Given the description of an element on the screen output the (x, y) to click on. 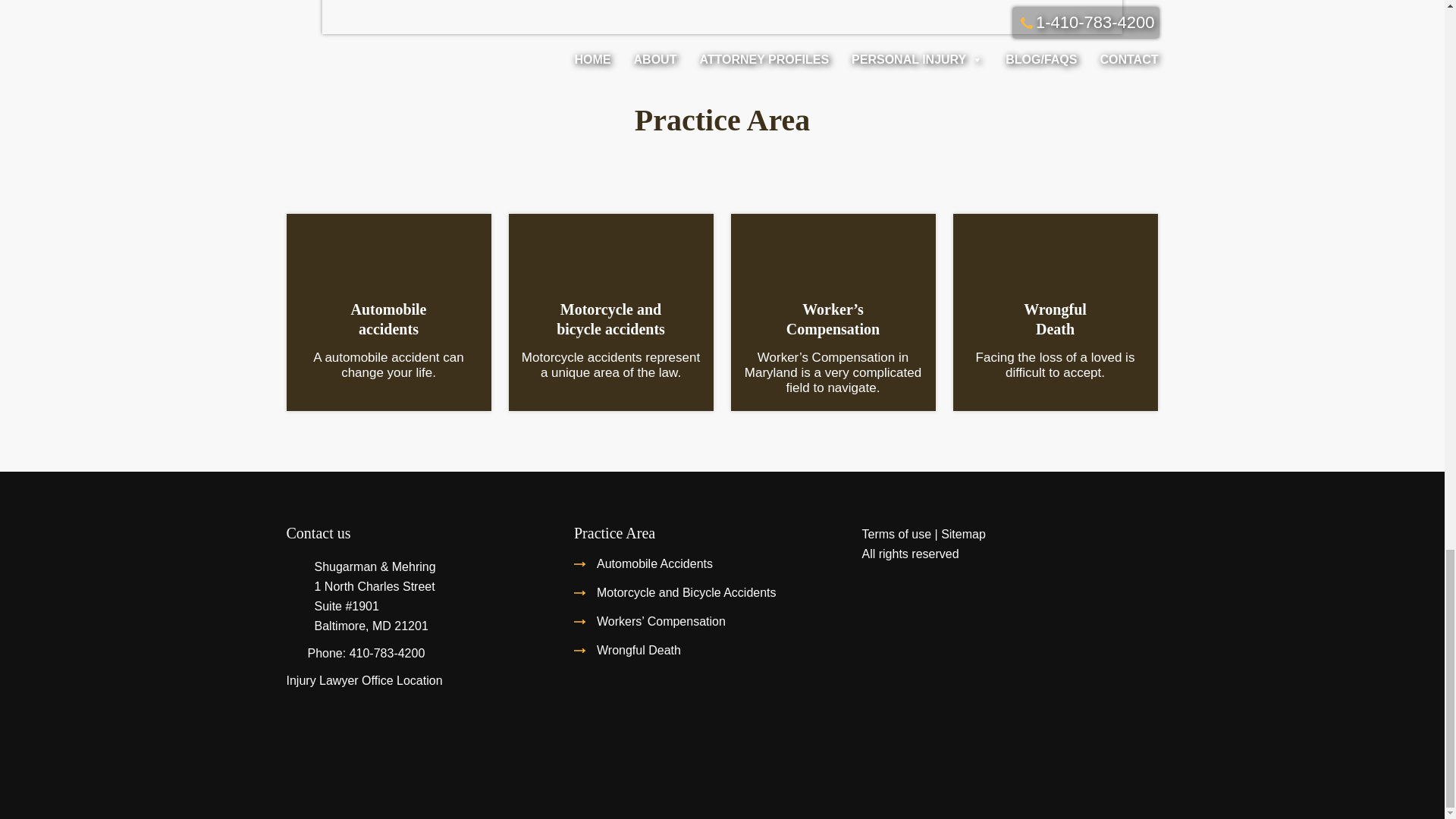
Sitemap (962, 533)
Injury Lawyer Office Location (388, 319)
410-783-4200 (364, 680)
Motorcycle and Bicycle Accidents (387, 653)
Wrongful Death (686, 592)
Automobile Accidents (638, 649)
Terms of use (1054, 319)
